Given the description of an element on the screen output the (x, y) to click on. 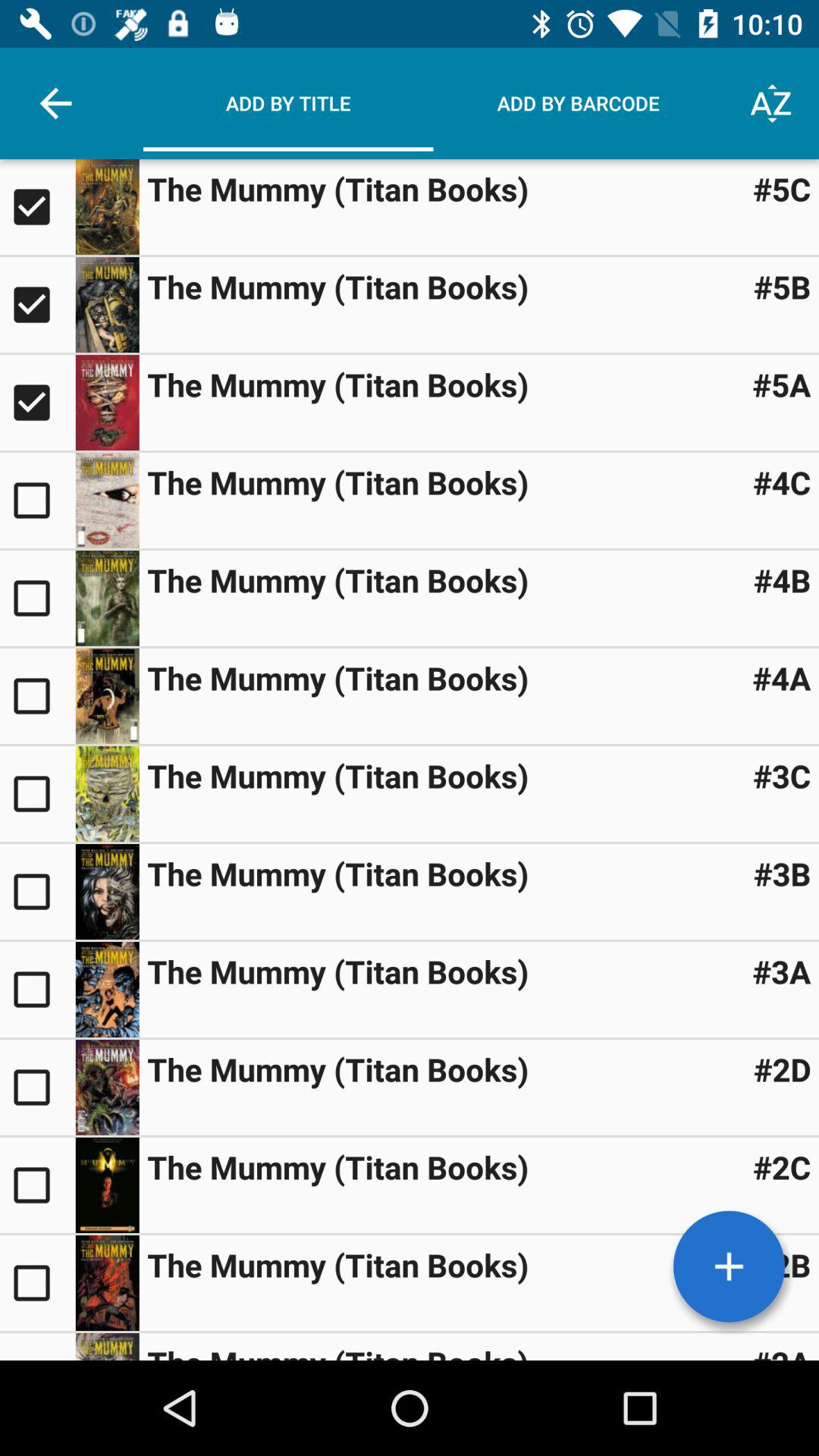
check mark box for downloading (37, 989)
